Given the description of an element on the screen output the (x, y) to click on. 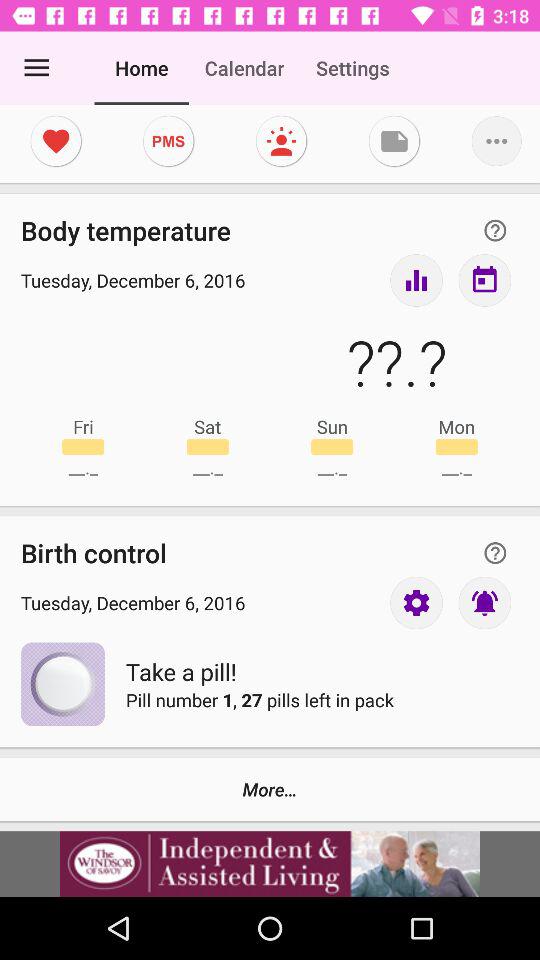
bell icon button (484, 602)
